Given the description of an element on the screen output the (x, y) to click on. 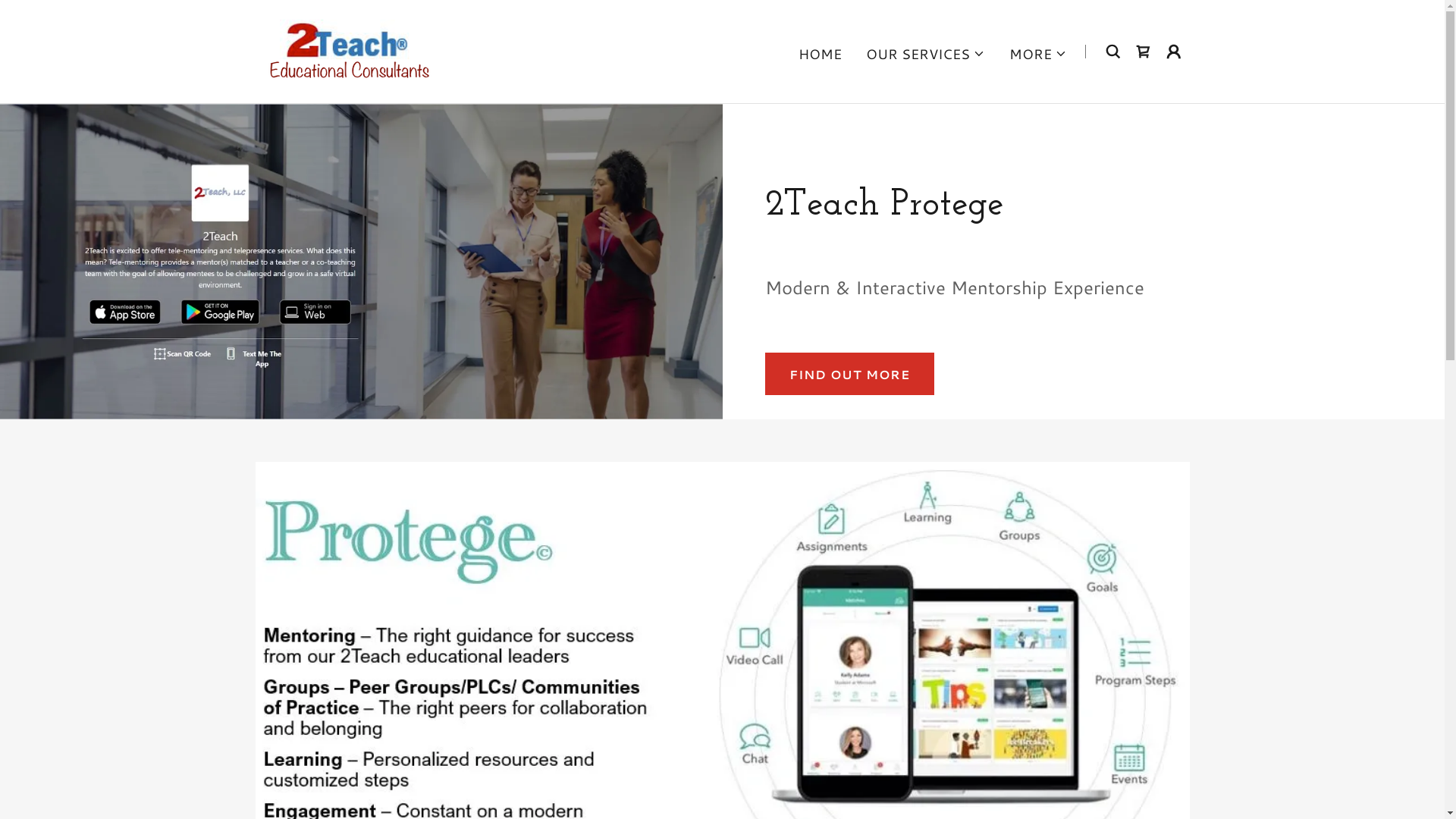
2Teach, LLC Element type: hover (345, 49)
MORE Element type: text (1037, 52)
FIND OUT MORE Element type: text (848, 373)
OUR SERVICES Element type: text (925, 52)
HOME Element type: text (819, 52)
